Given the description of an element on the screen output the (x, y) to click on. 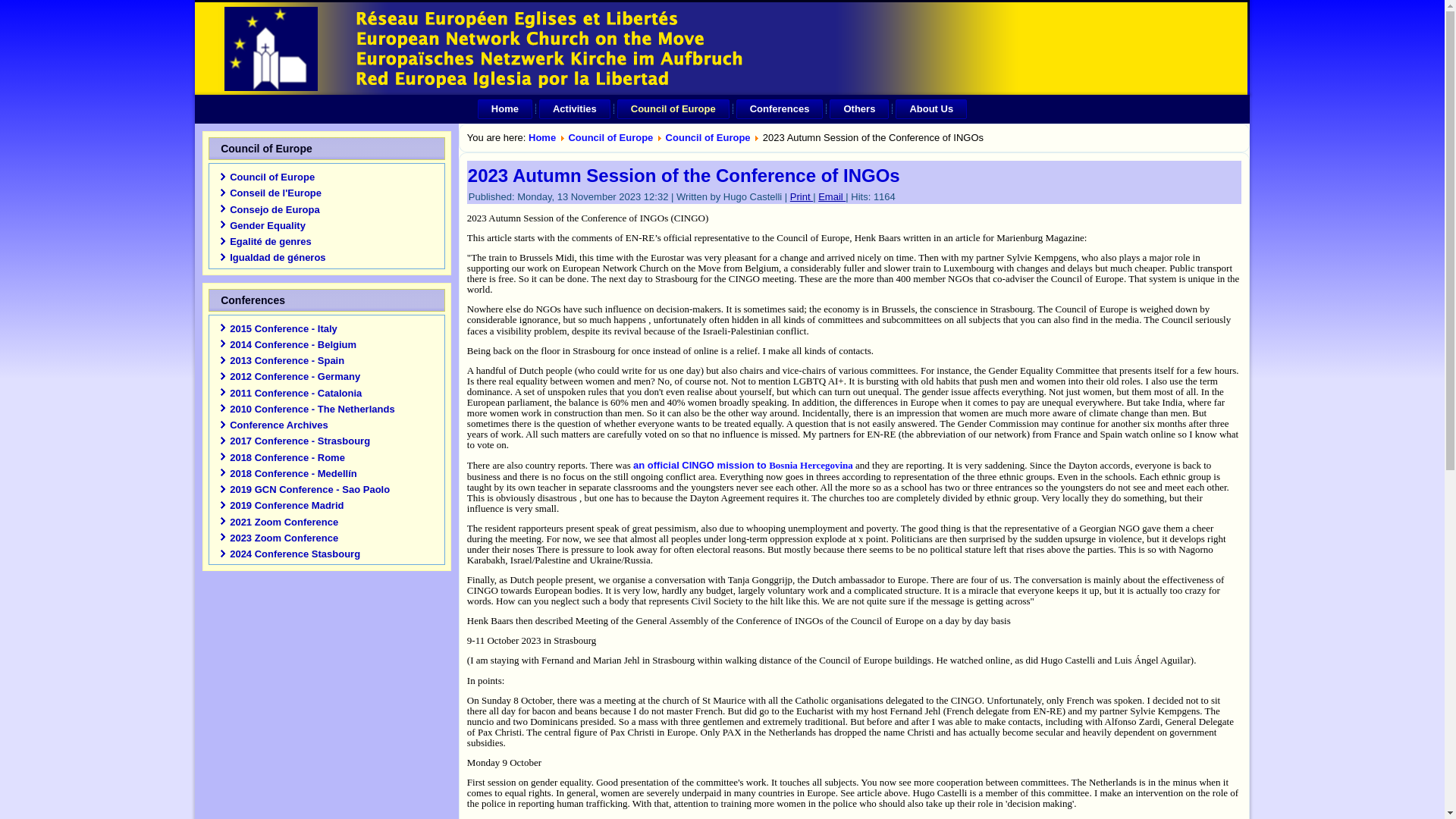
Activities (574, 108)
Council of Europe (673, 108)
Email this link to a friend (831, 196)
Home (504, 108)
Others (858, 108)
Conferences (780, 108)
